Given the description of an element on the screen output the (x, y) to click on. 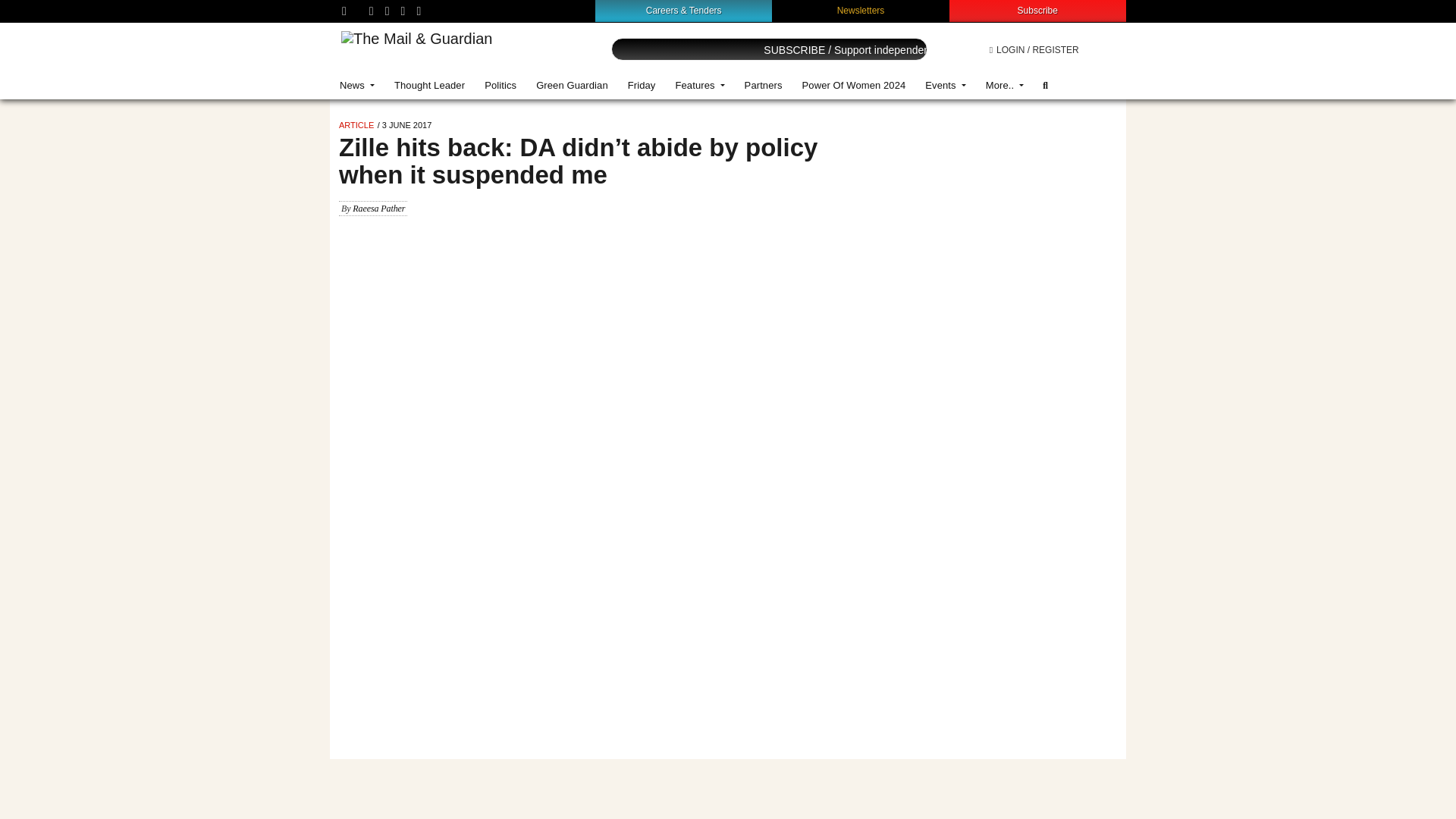
Friday (641, 85)
Green Guardian (571, 85)
Newsletters (861, 9)
Subscribe (1037, 9)
News (357, 85)
Politics (499, 85)
Thought Leader (429, 85)
News (357, 85)
Features (699, 85)
